Given the description of an element on the screen output the (x, y) to click on. 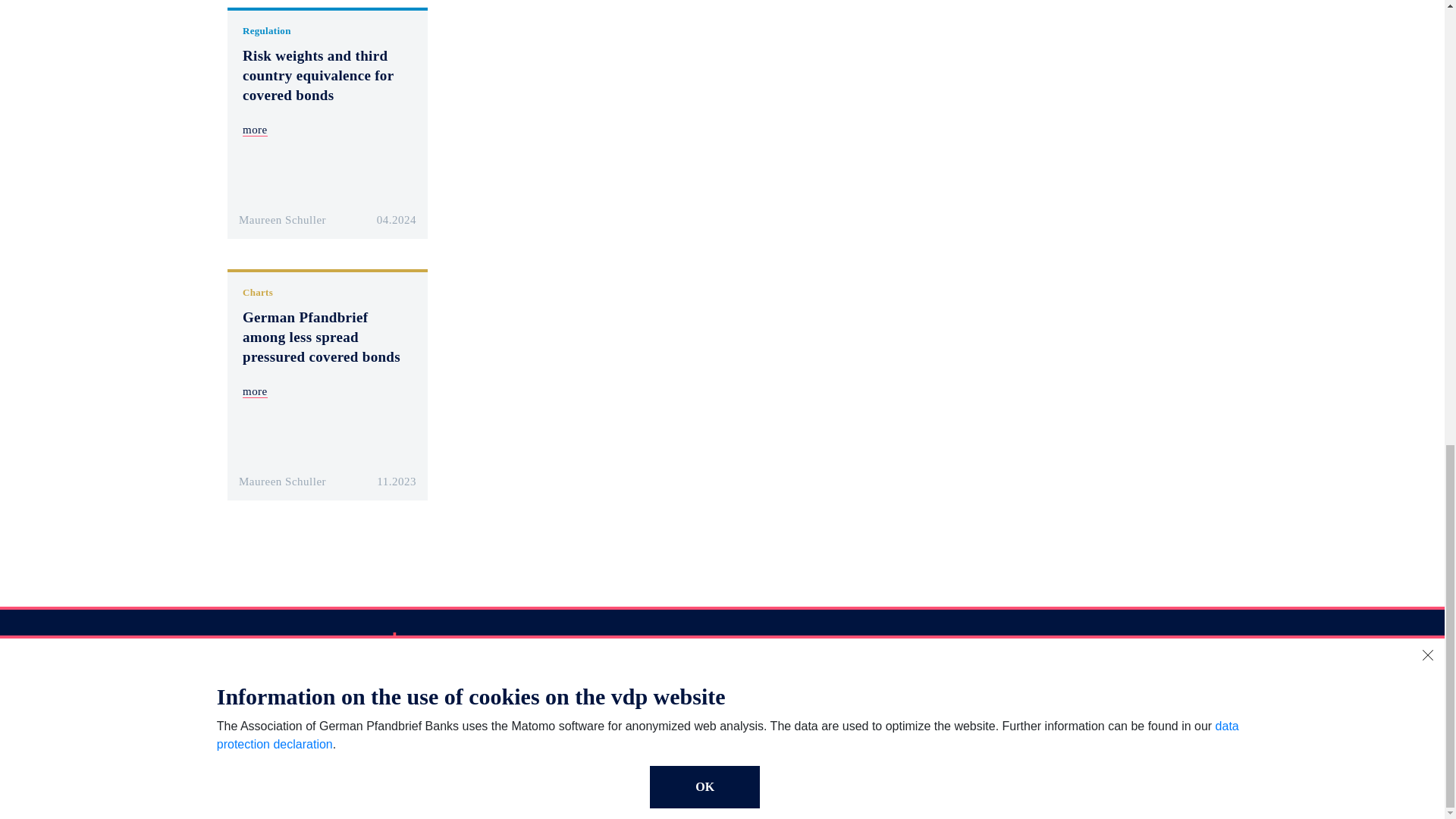
Articles (262, 684)
Contact (262, 739)
German Pfandbrief among less spread pressured covered bonds (321, 336)
Imprint (427, 684)
Charts (258, 292)
Authors (262, 703)
Issuers (259, 721)
more (255, 391)
Risk weights and third country equivalence for covered bonds (318, 75)
more (255, 129)
Privacy (427, 703)
Regulation (267, 30)
